Given the description of an element on the screen output the (x, y) to click on. 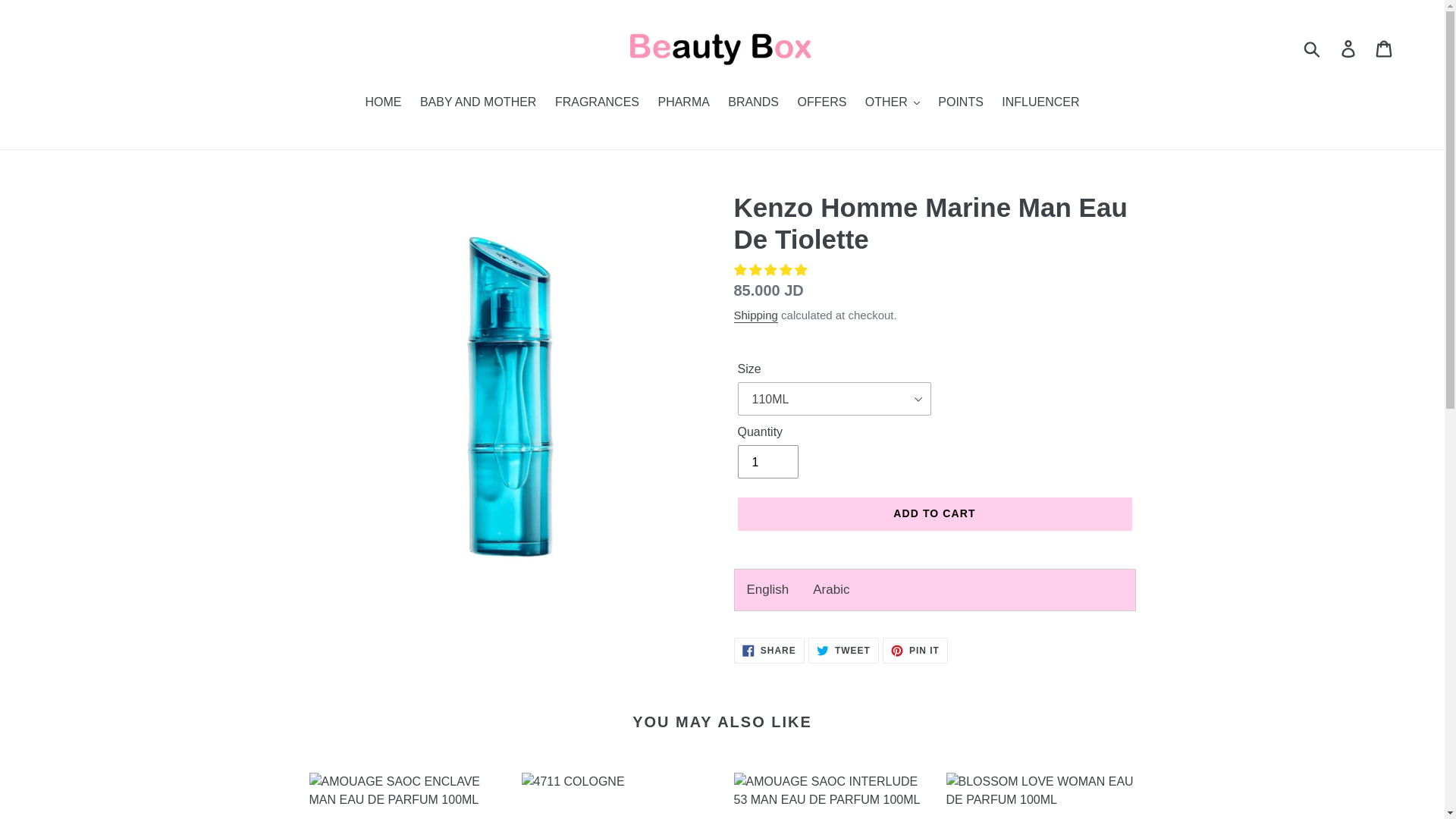
BABY AND MOTHER (478, 103)
PHARMA (682, 103)
1 (766, 461)
FRAGRANCES (596, 103)
POINTS (960, 103)
Log in (1349, 48)
BRANDS (753, 103)
Submit (1313, 48)
OFFERS (822, 103)
Cart (1385, 48)
HOME (382, 103)
